Given the description of an element on the screen output the (x, y) to click on. 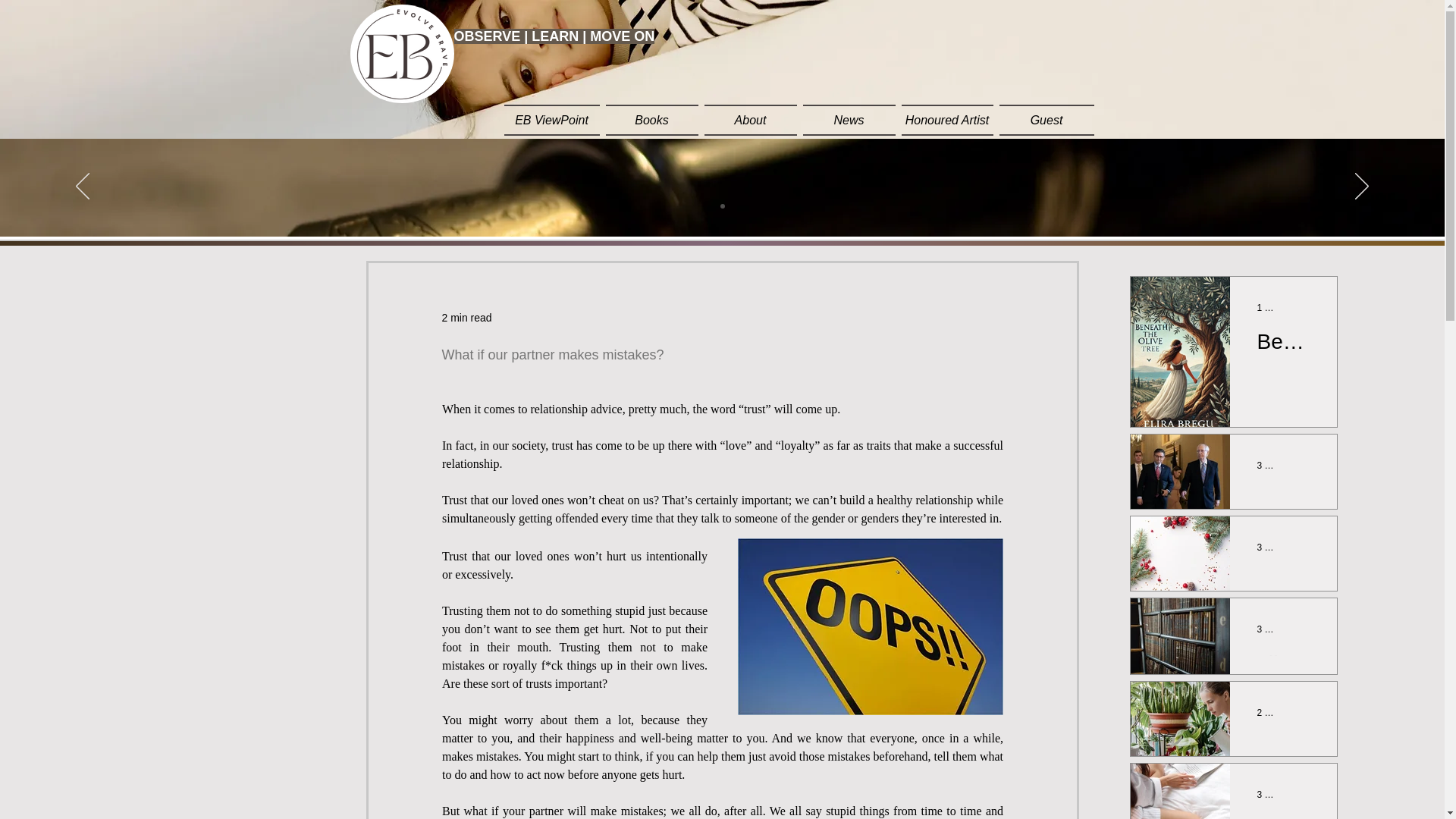
3 min (1268, 465)
1 min (1268, 307)
3 min (1268, 547)
Guest (1044, 119)
News (848, 119)
EB ViewPoint (552, 119)
3 min (1268, 629)
Beneath the Olive Tree - Jurney of Survival (1282, 346)
Gardening Wisdom: The Importance of Organization" (1282, 751)
3 min (1268, 794)
Honoured Artist (946, 119)
Books (651, 119)
Library of Lost Secrets (1282, 667)
The Brave Stardust Journey from Ordinary to Heroic (1282, 817)
